Given the description of an element on the screen output the (x, y) to click on. 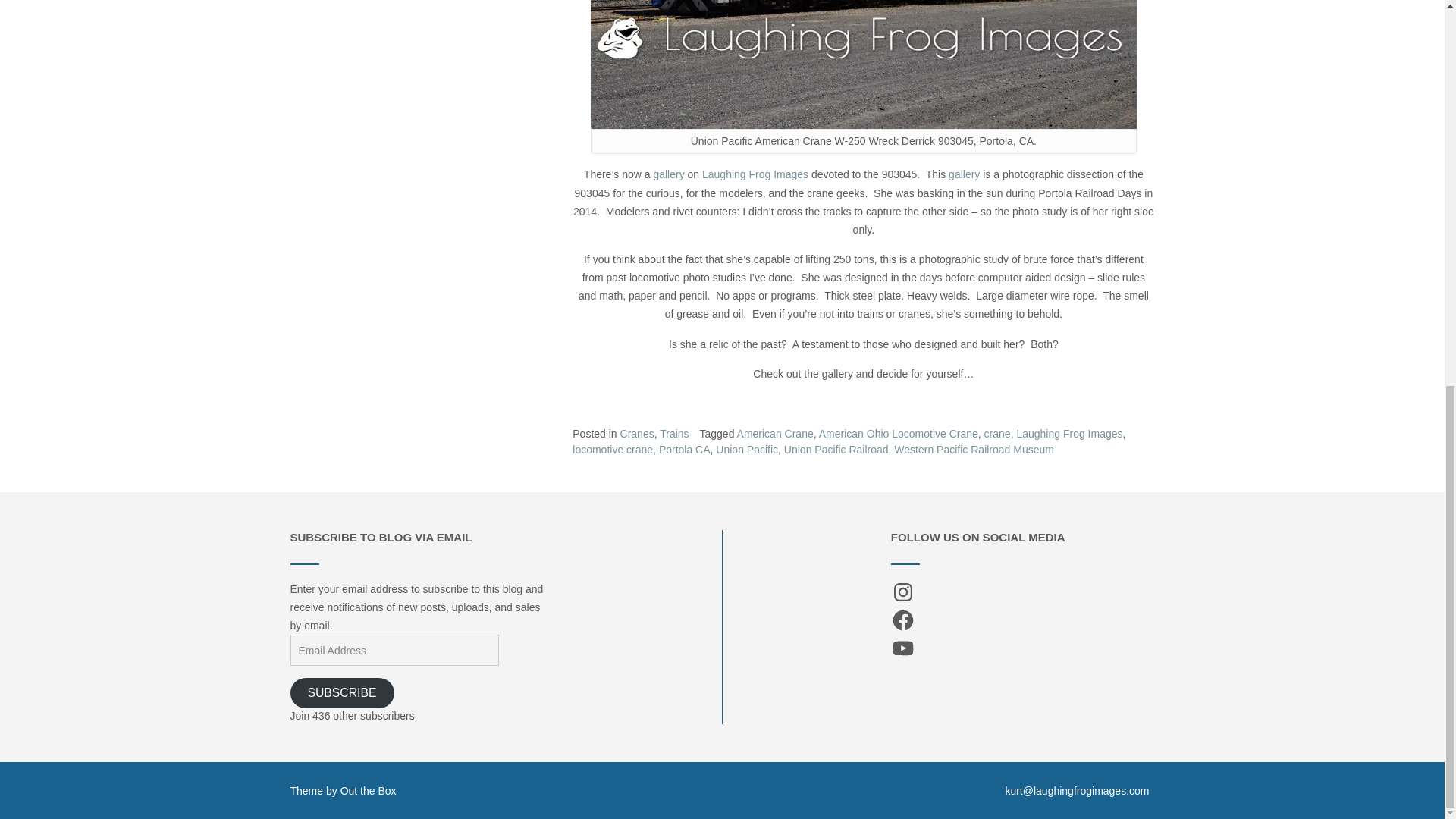
American Ohio Locomotive Crane (898, 433)
Laughing Frog Images (1069, 433)
Out the Box (368, 790)
gallery (964, 174)
SUBSCRIBE (341, 693)
Trains (673, 433)
Instagram (903, 591)
Portola CA (684, 449)
Cranes (636, 433)
gallery (668, 174)
crane (997, 433)
Facebook (903, 620)
Laughing Frog Images (754, 174)
American Crane (774, 433)
Western Pacific Railroad Museum (973, 449)
